Given the description of an element on the screen output the (x, y) to click on. 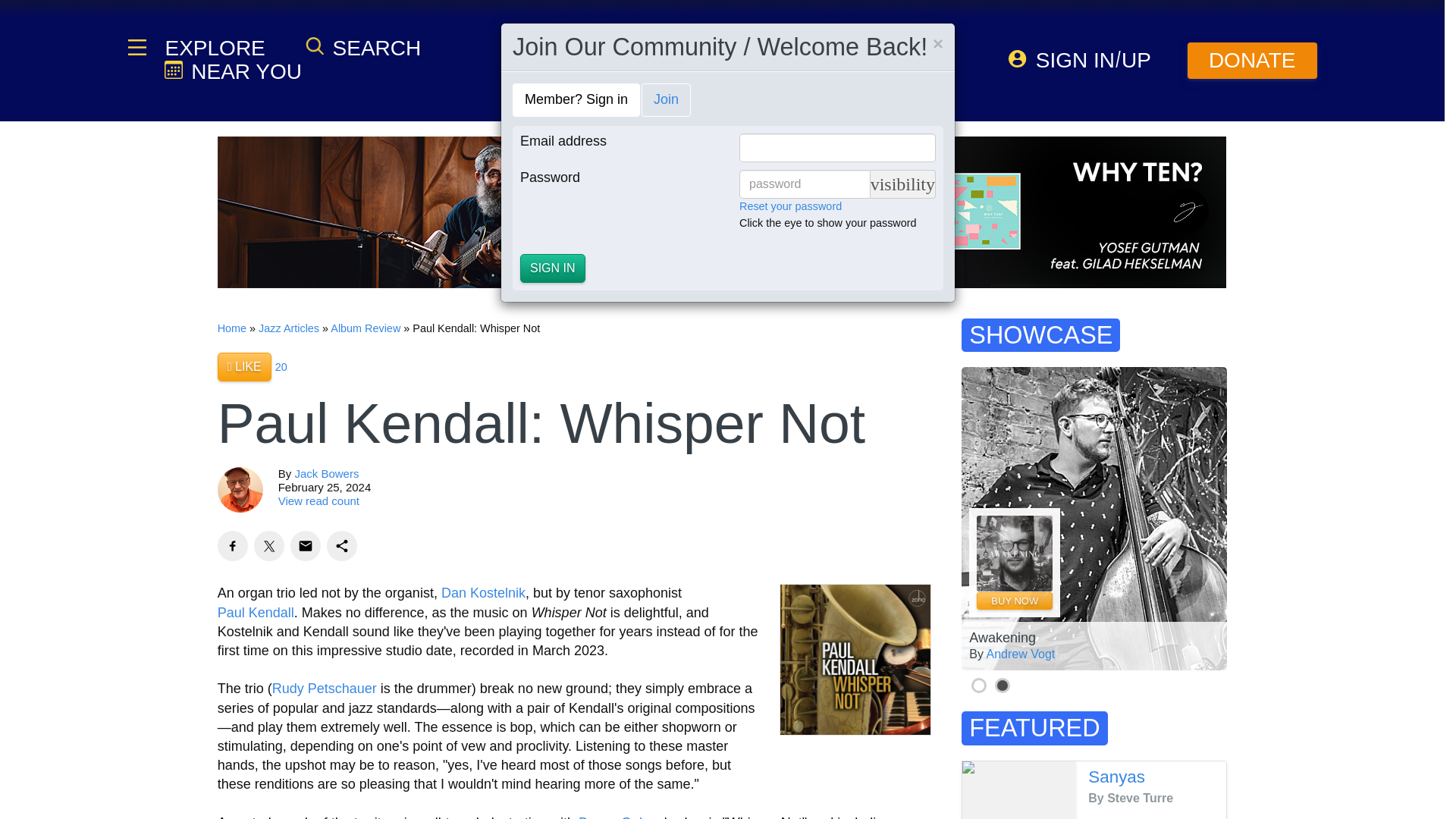
View Whisper Not at All About Jazz (854, 659)
Home (231, 328)
EXPLORE (212, 47)
Jack Bowers (326, 472)
Album Review (365, 328)
Jazz Articles (288, 328)
View read count (318, 500)
Rudy Petschauer (324, 688)
Dan Kostelnik (483, 592)
Click Here to Return to the All About Jazz Home Page (231, 328)
Near You (232, 71)
Paul Kendall: Whisper Not (855, 659)
DONATE (1252, 60)
Top recommended jazz articles (280, 367)
